Given the description of an element on the screen output the (x, y) to click on. 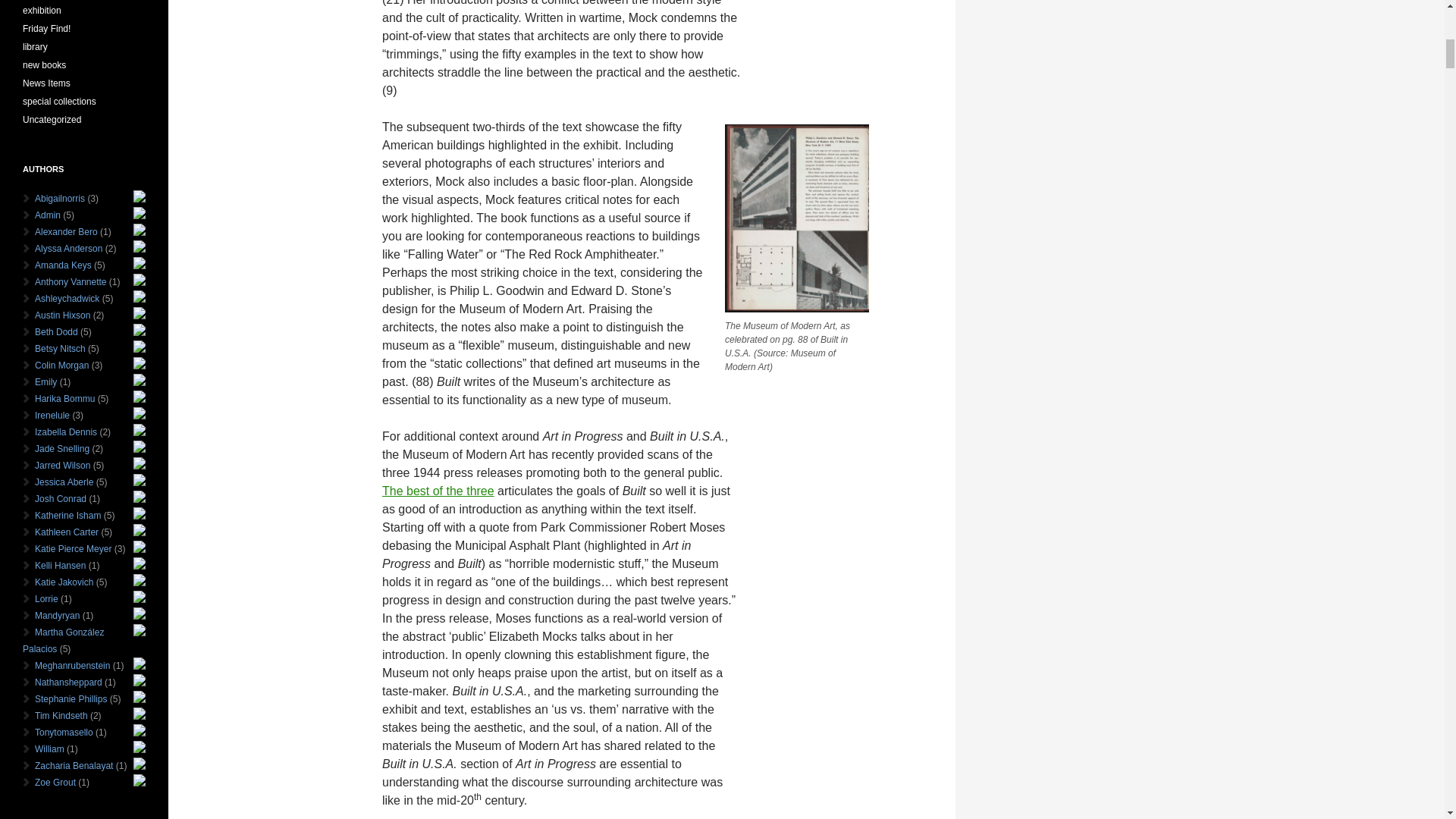
The best of the three (438, 490)
